Given the description of an element on the screen output the (x, y) to click on. 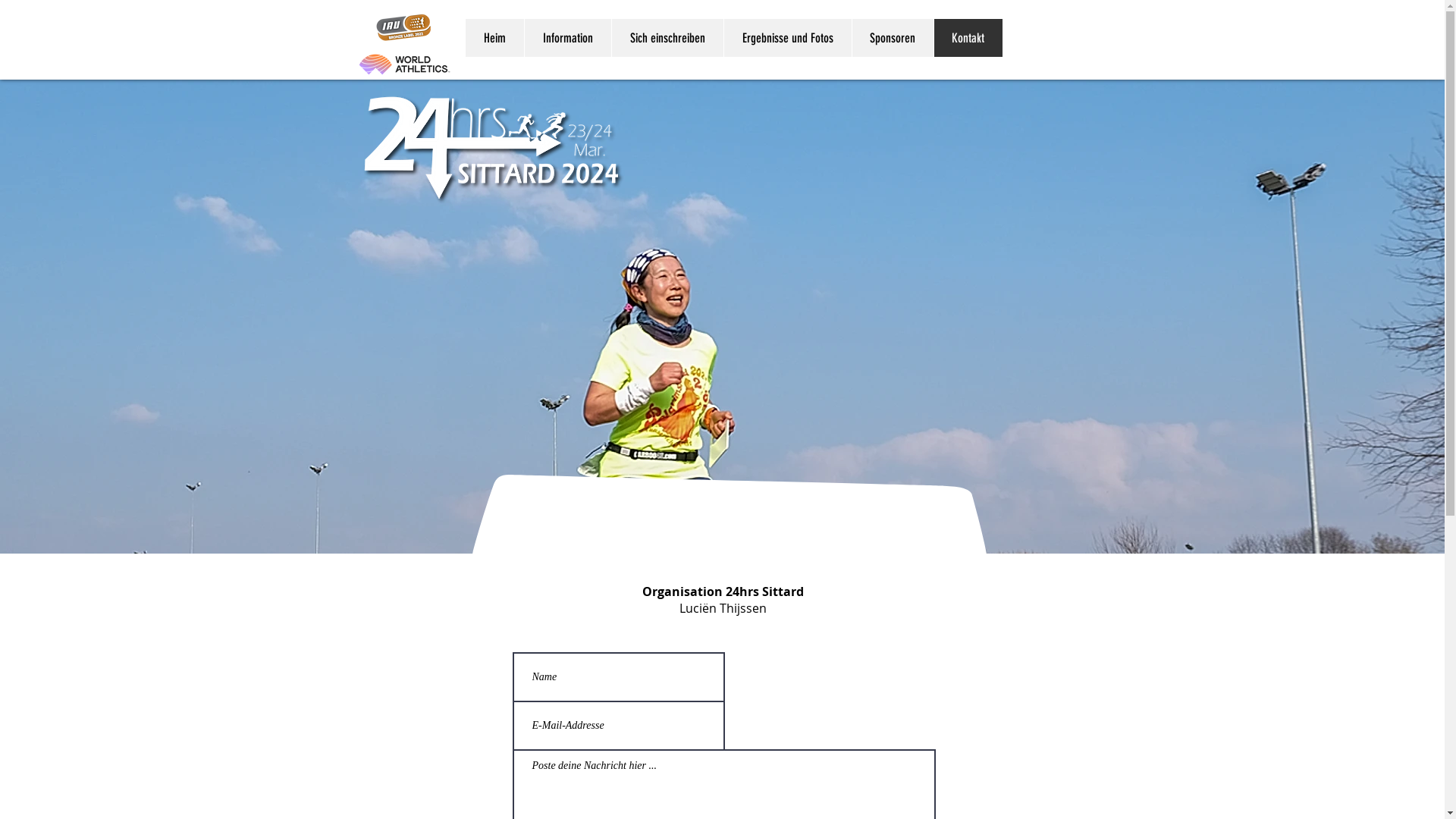
Information Element type: text (566, 37)
Ergebnisse und Fotos Element type: text (787, 37)
Sich einschreiben Element type: text (667, 37)
Sponsoren Element type: text (891, 37)
Kontakt Element type: text (966, 37)
Heim Element type: text (494, 37)
